Given the description of an element on the screen output the (x, y) to click on. 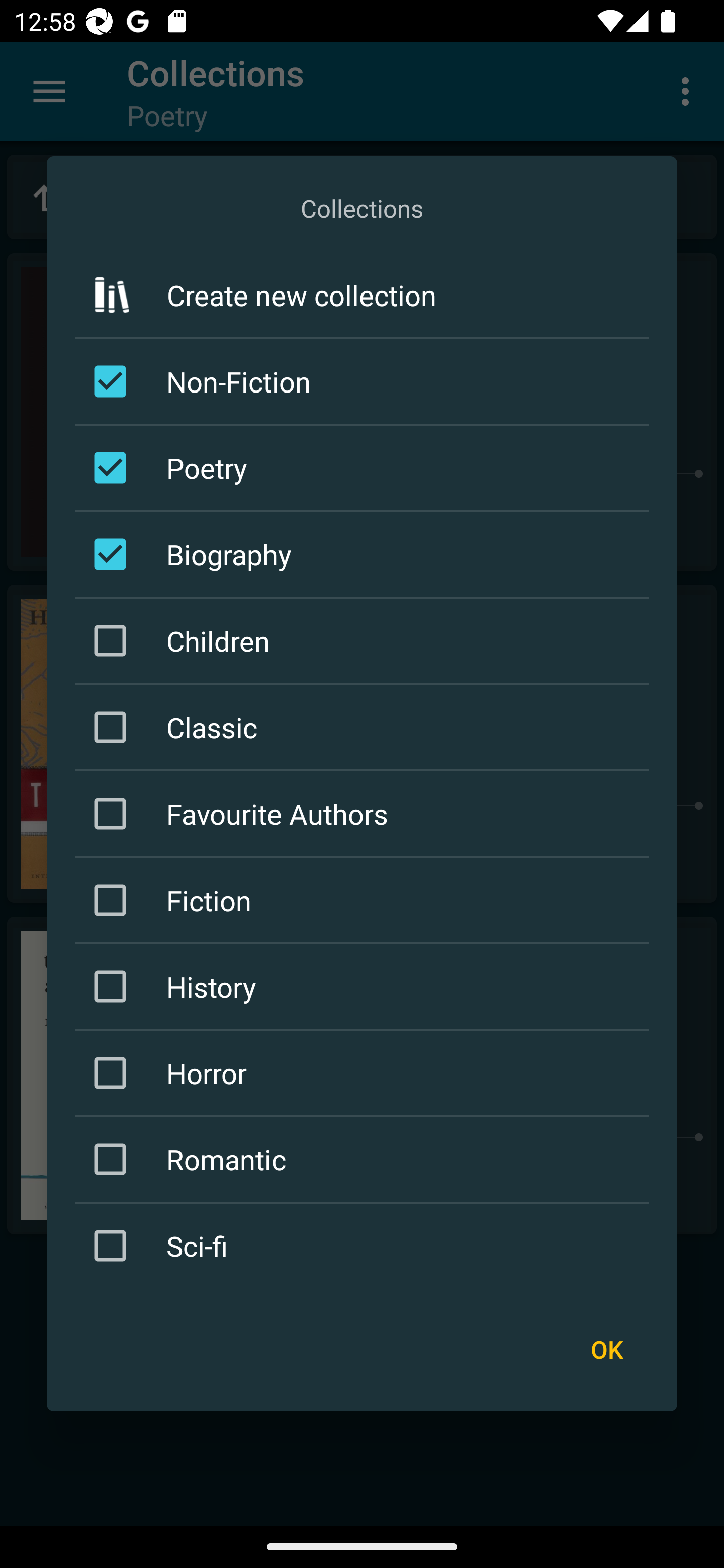
Create new collection (361, 294)
Non-Fiction (365, 380)
Poetry (365, 466)
Biography (365, 553)
Children (365, 640)
Classic (365, 727)
Favourite Authors (365, 813)
Fiction (365, 899)
History (365, 985)
Horror (365, 1072)
Romantic (365, 1158)
Sci-fi (365, 1245)
OK (606, 1349)
